Given the description of an element on the screen output the (x, y) to click on. 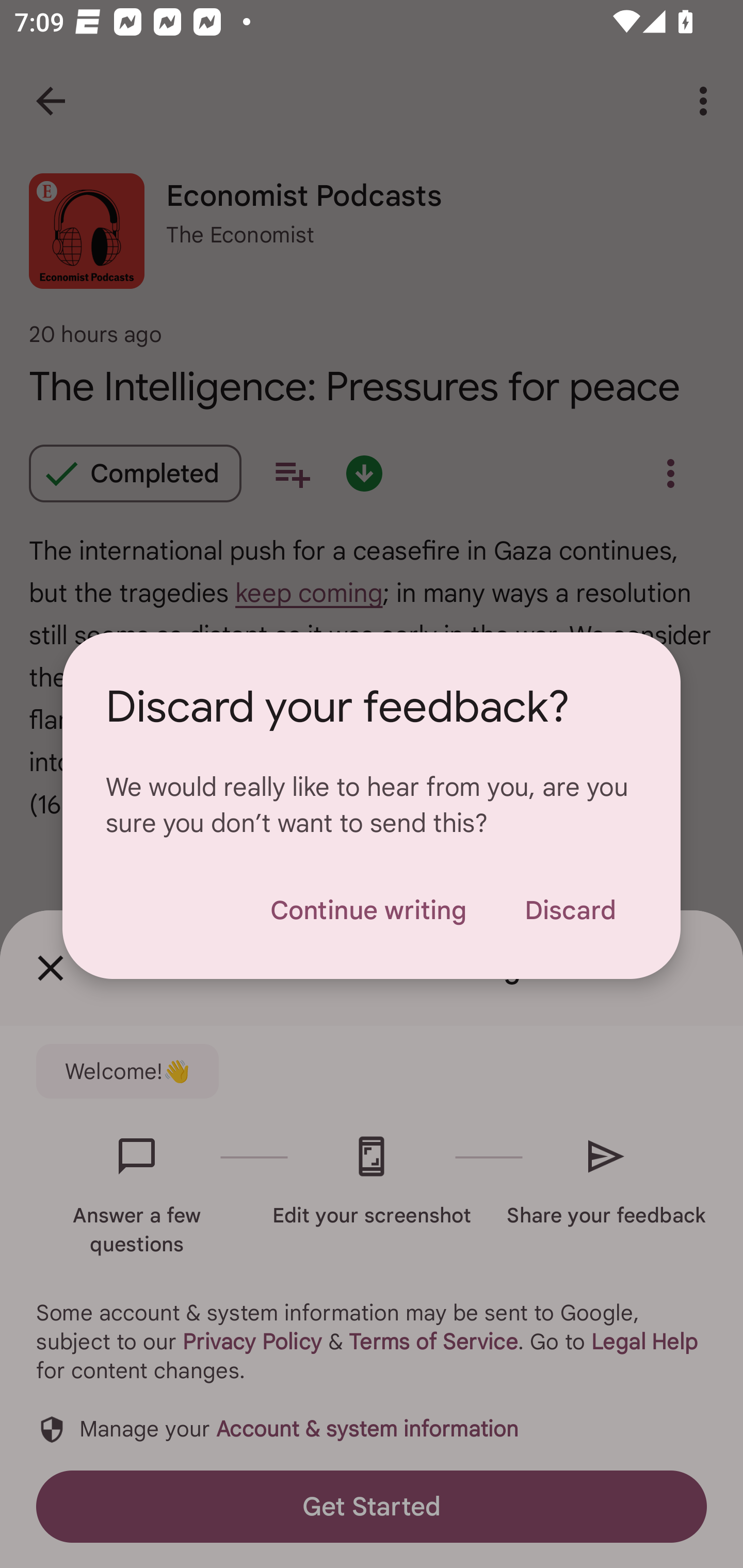
Continue writing (368, 910)
Discard (569, 910)
